Given the description of an element on the screen output the (x, y) to click on. 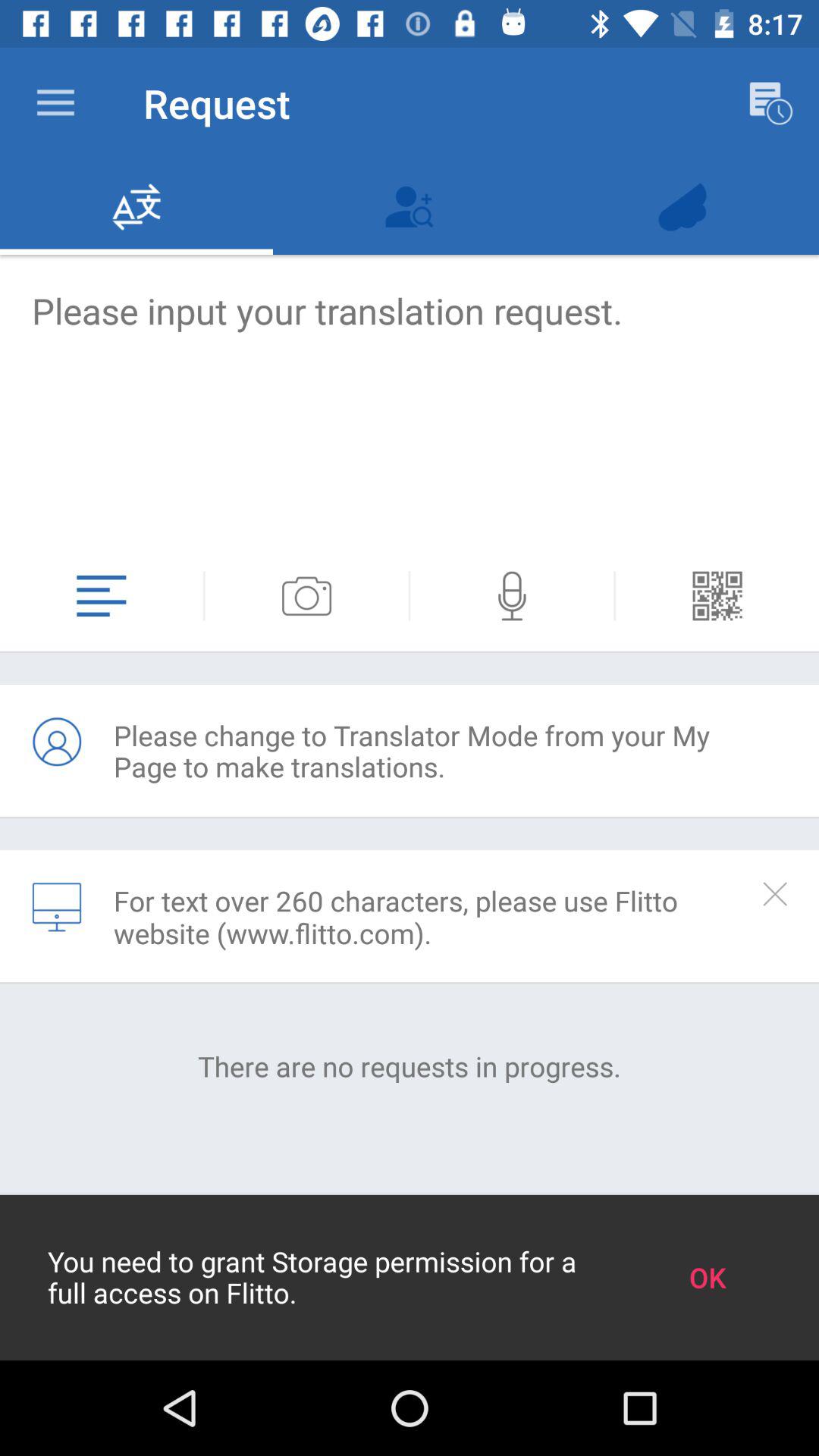
choose icon above the there are no app (56, 907)
